Given the description of an element on the screen output the (x, y) to click on. 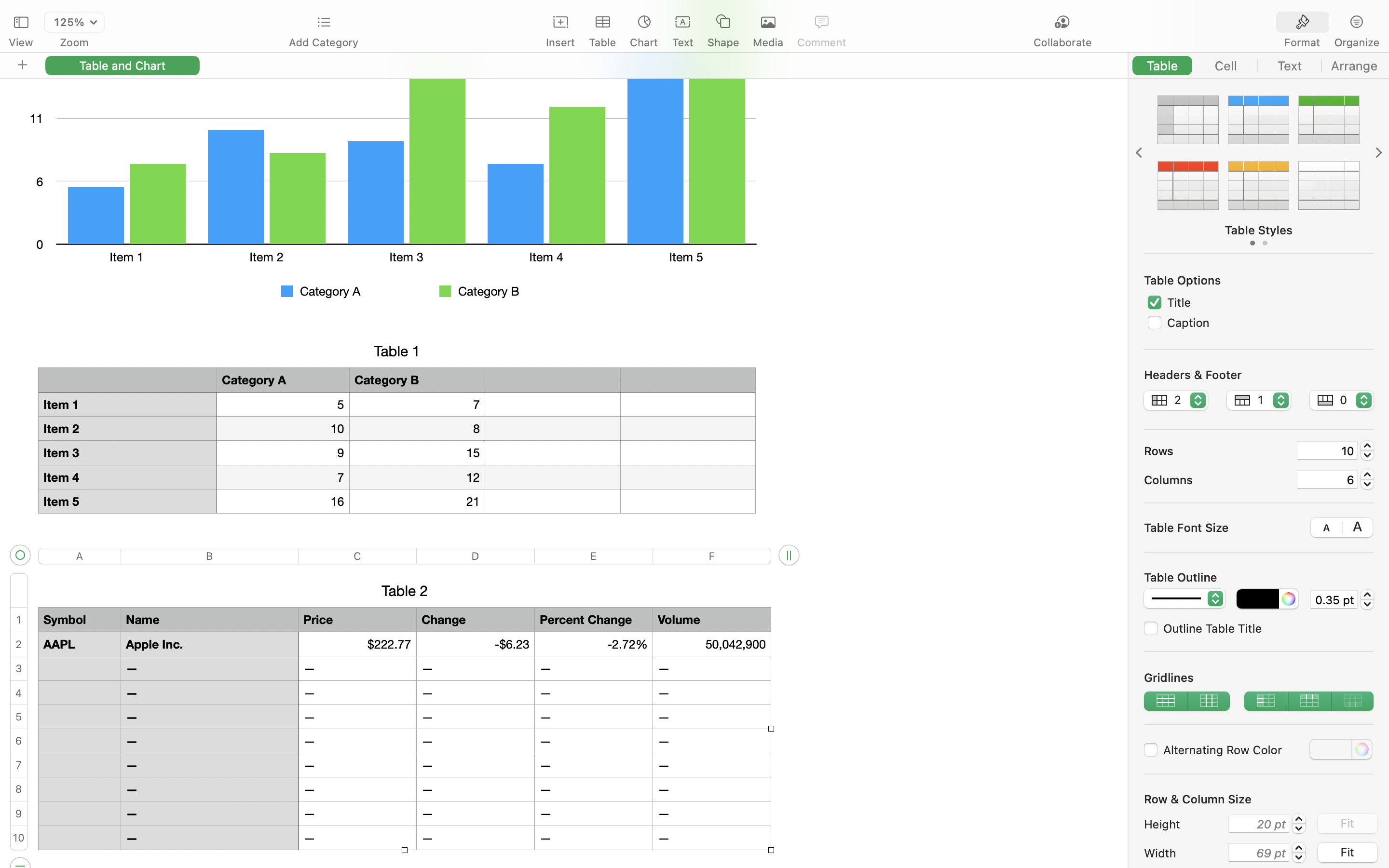
Gridlines Element type: AXStaticText (1258, 677)
Zoom Element type: AXStaticText (73, 42)
20.259930416941643 Element type: AXIncrementor (1298, 823)
10.0 Element type: AXIncrementor (1367, 449)
Media Element type: AXStaticText (767, 42)
